Given the description of an element on the screen output the (x, y) to click on. 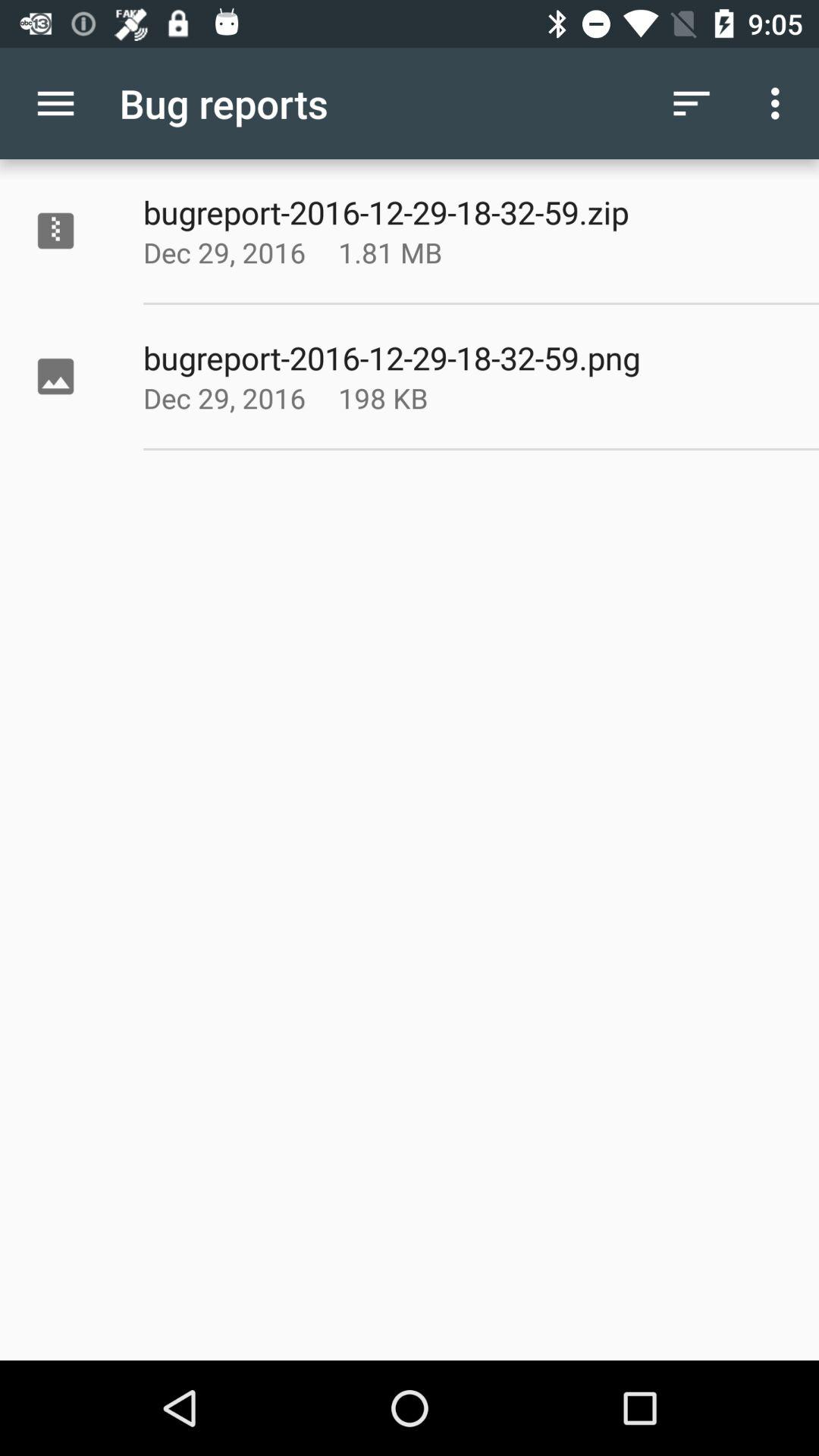
turn off 198 kb (427, 397)
